Given the description of an element on the screen output the (x, y) to click on. 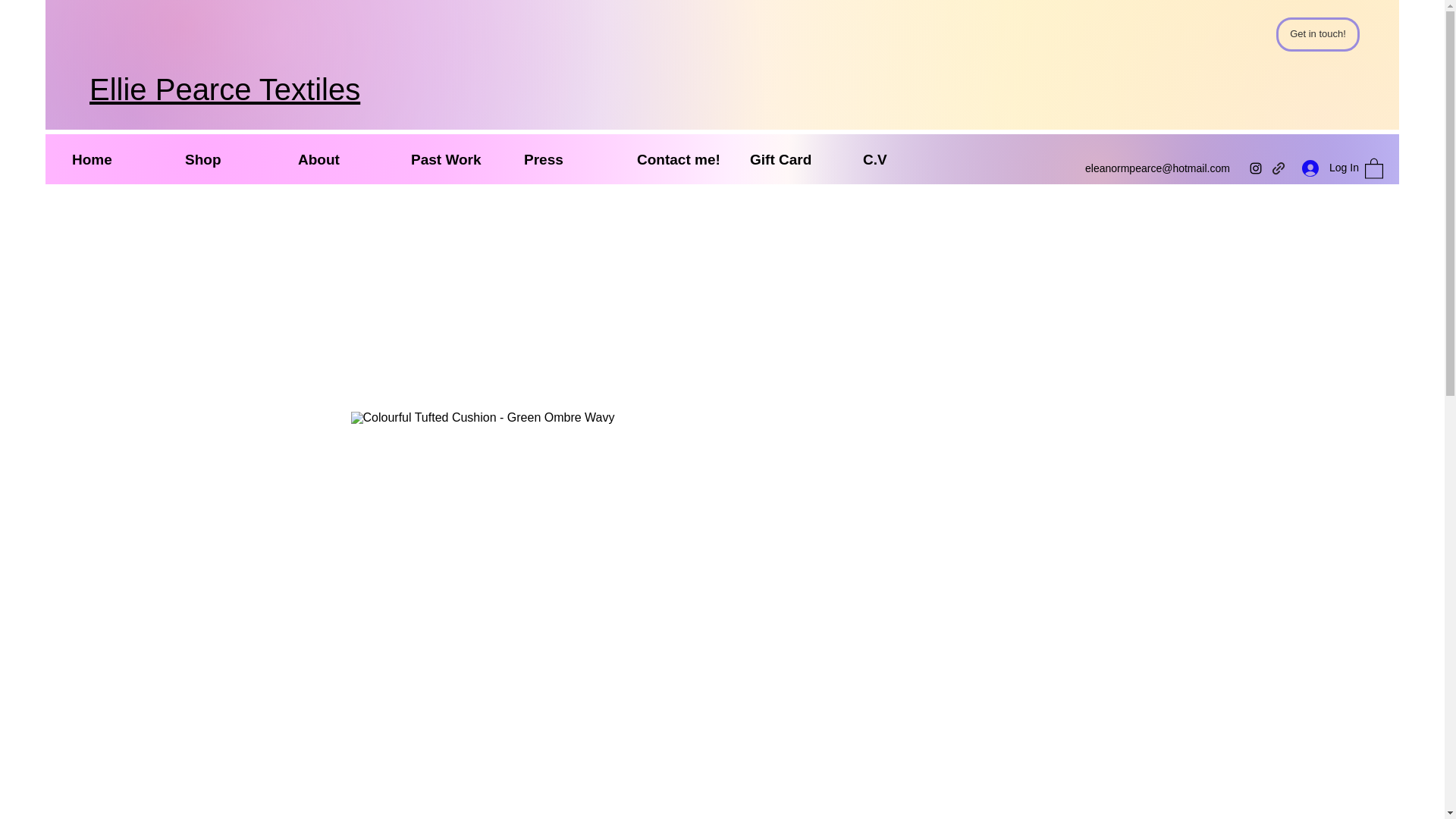
Past Work (455, 158)
Contact me! (682, 158)
Ellie Pearce Textiles (223, 89)
Gift Card (794, 158)
About (342, 158)
Home (117, 158)
Shop (229, 158)
Get in touch! (1317, 34)
Log In (1325, 167)
Press (569, 158)
C.V (907, 158)
